Given the description of an element on the screen output the (x, y) to click on. 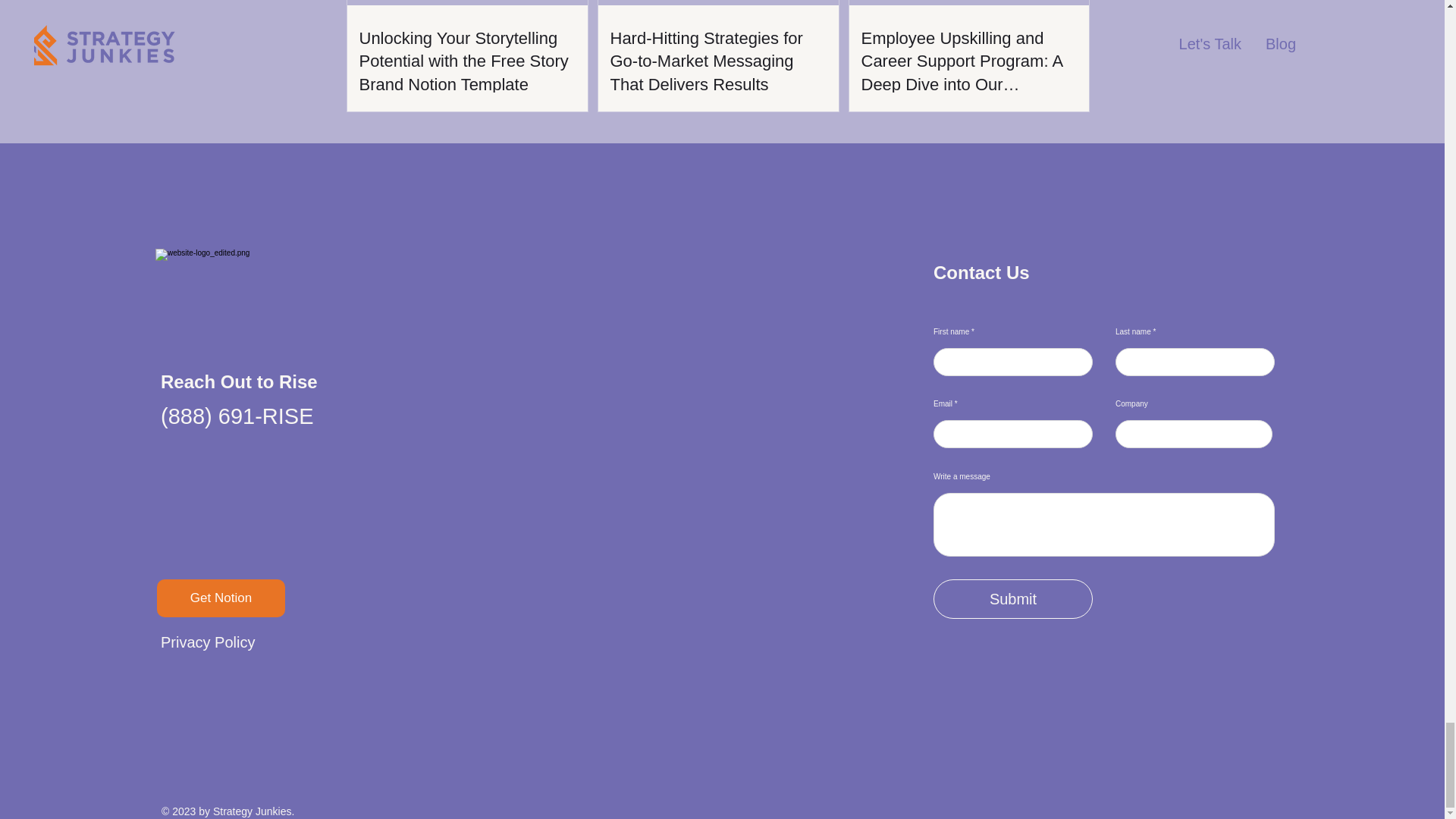
Submit (1013, 599)
Privacy Policy (207, 641)
Get Notion (221, 598)
